Given the description of an element on the screen output the (x, y) to click on. 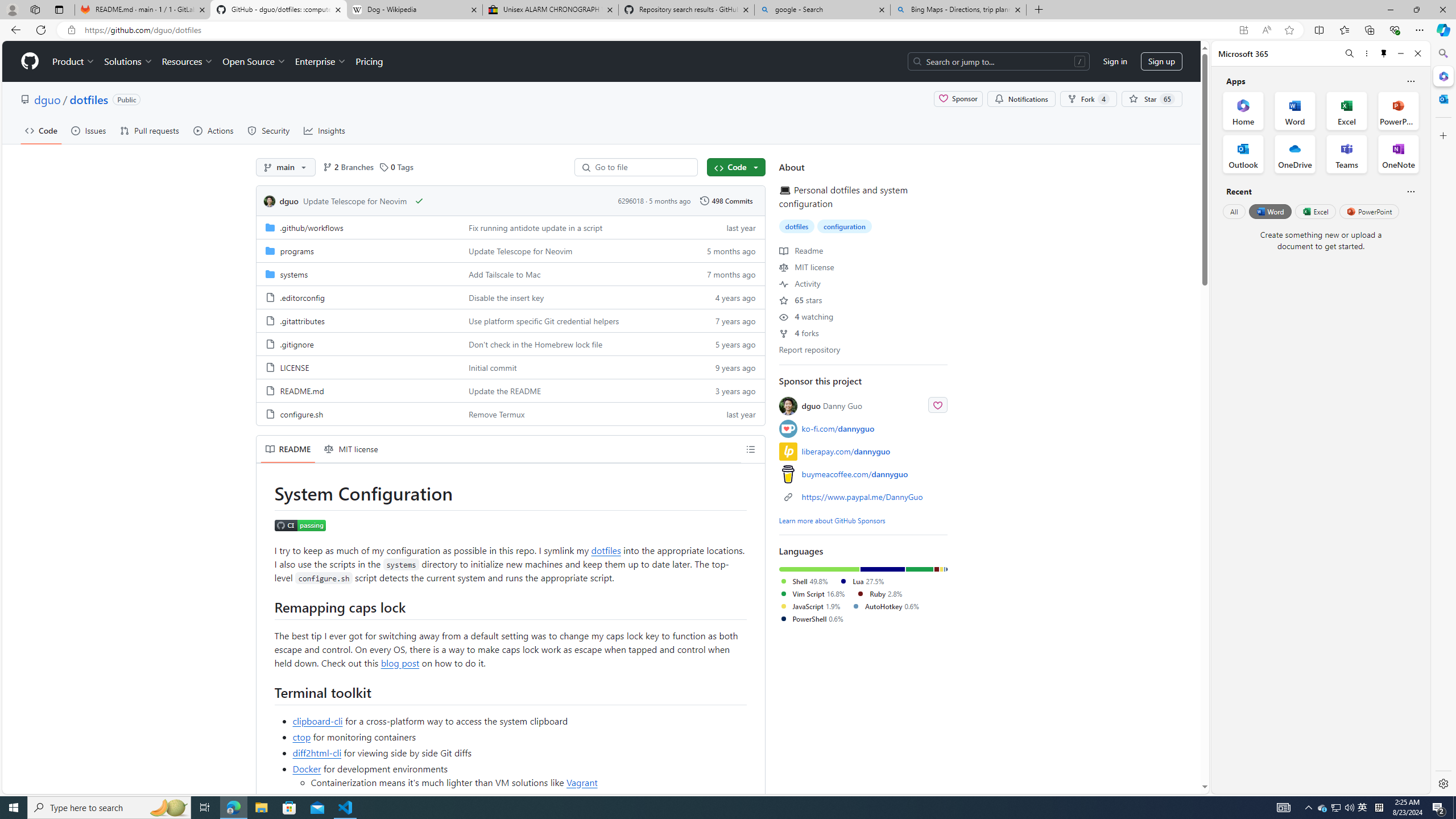
Initial commit (573, 366)
Issues (87, 130)
Vim Script16.8% (817, 594)
Sign in (1115, 61)
Permalink: Remapping caps lock (266, 605)
Vagrant (582, 781)
buymeacoffee.com/dannyguo (862, 473)
AutomationID: folder-row-6 (510, 366)
@dguo (787, 405)
Code (41, 130)
configure.sh, (File) (358, 413)
